Given the description of an element on the screen output the (x, y) to click on. 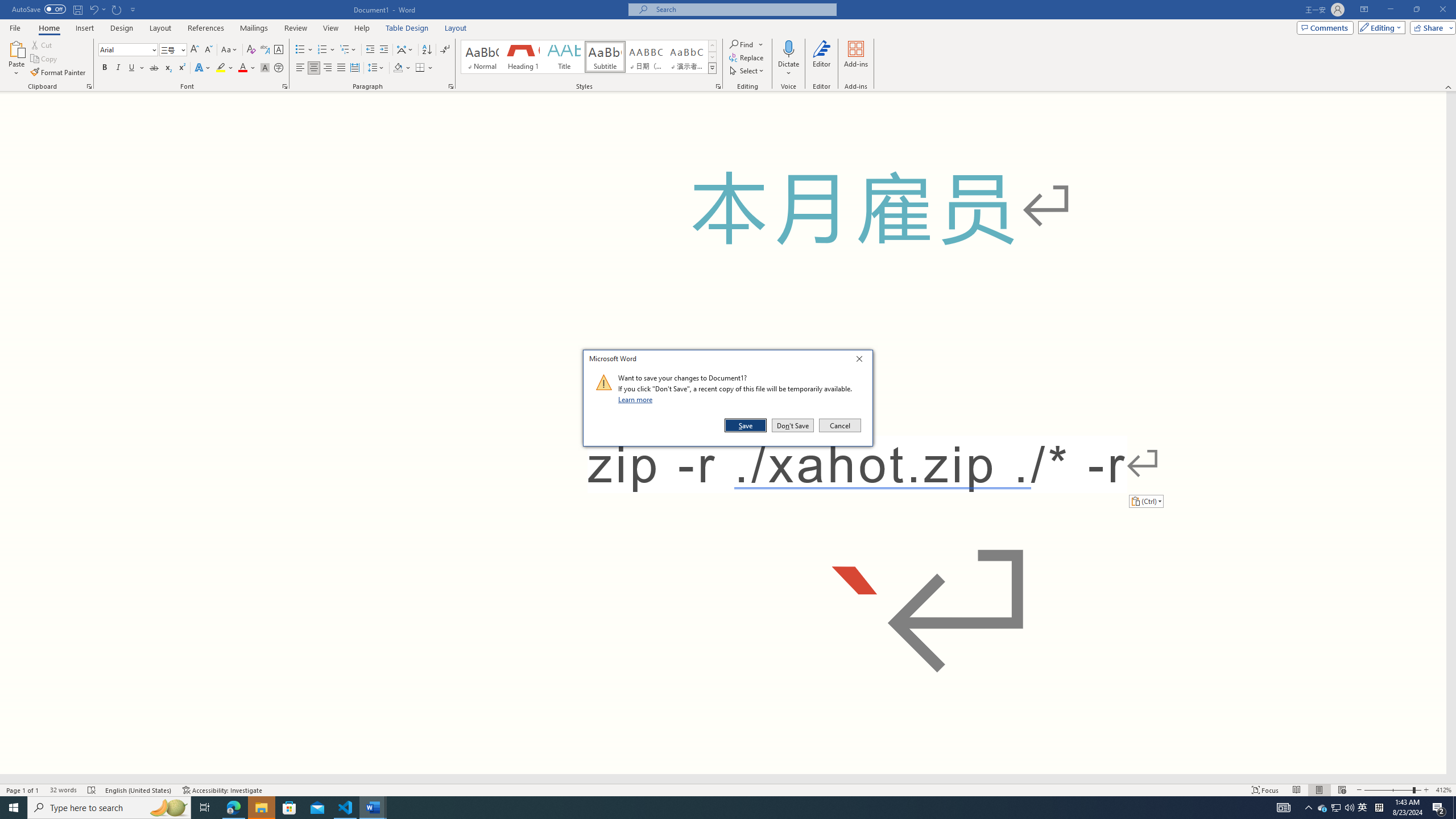
Learn more (636, 399)
Page Number Page 1 of 1 (22, 790)
Cancel (839, 425)
Word Count 32 words (63, 790)
